Given the description of an element on the screen output the (x, y) to click on. 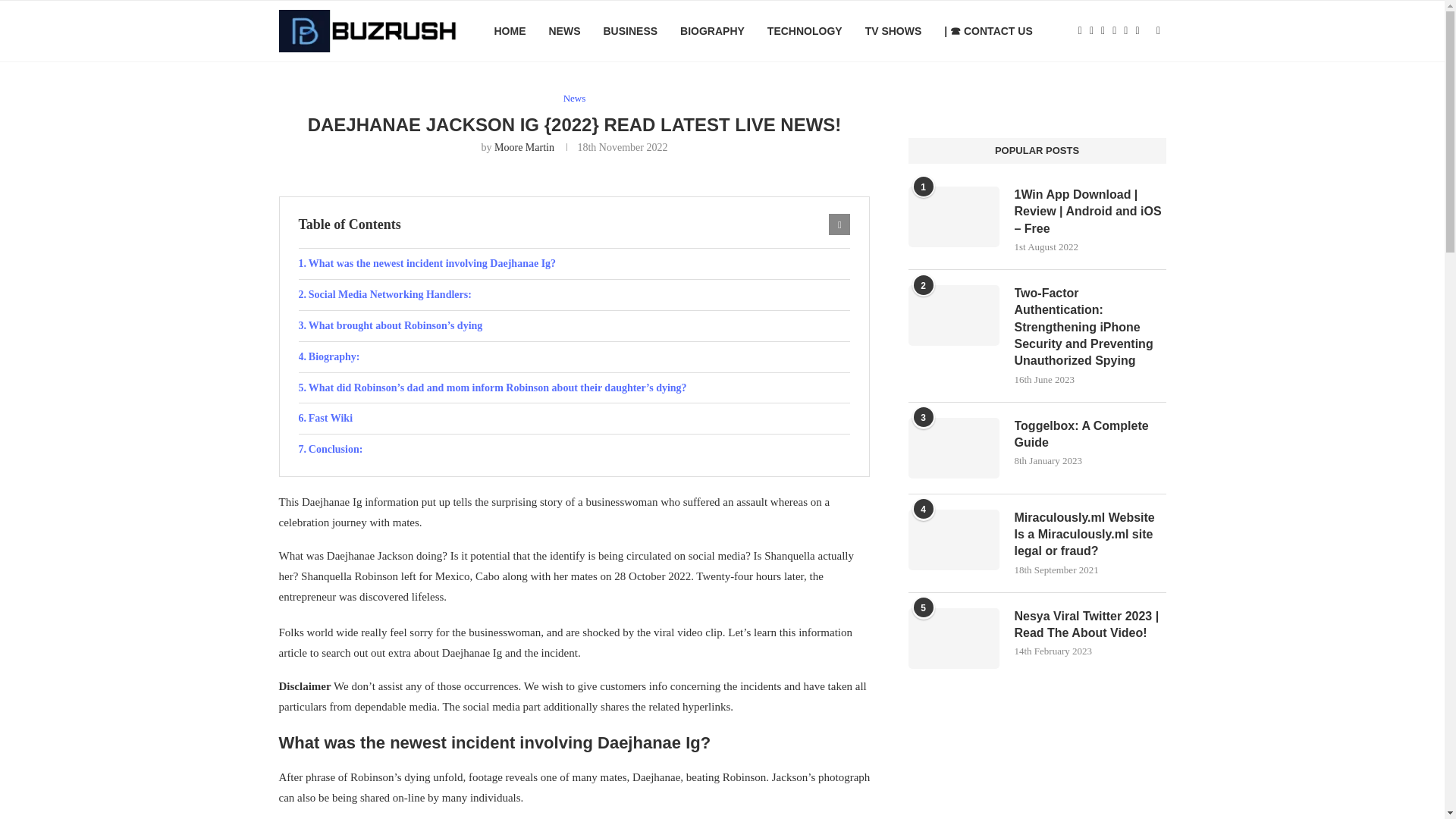
Fast Wiki (574, 418)
TECHNOLOGY (805, 30)
Fast Wiki (574, 418)
Conclusion: (574, 449)
What was the newest incident involving Daejhanae Ig? (574, 263)
Biography: (574, 357)
BUSINESS (630, 30)
Social Media Networking Handlers: (574, 295)
Social Media Networking Handlers: (574, 295)
TV SHOWS (892, 30)
